Given the description of an element on the screen output the (x, y) to click on. 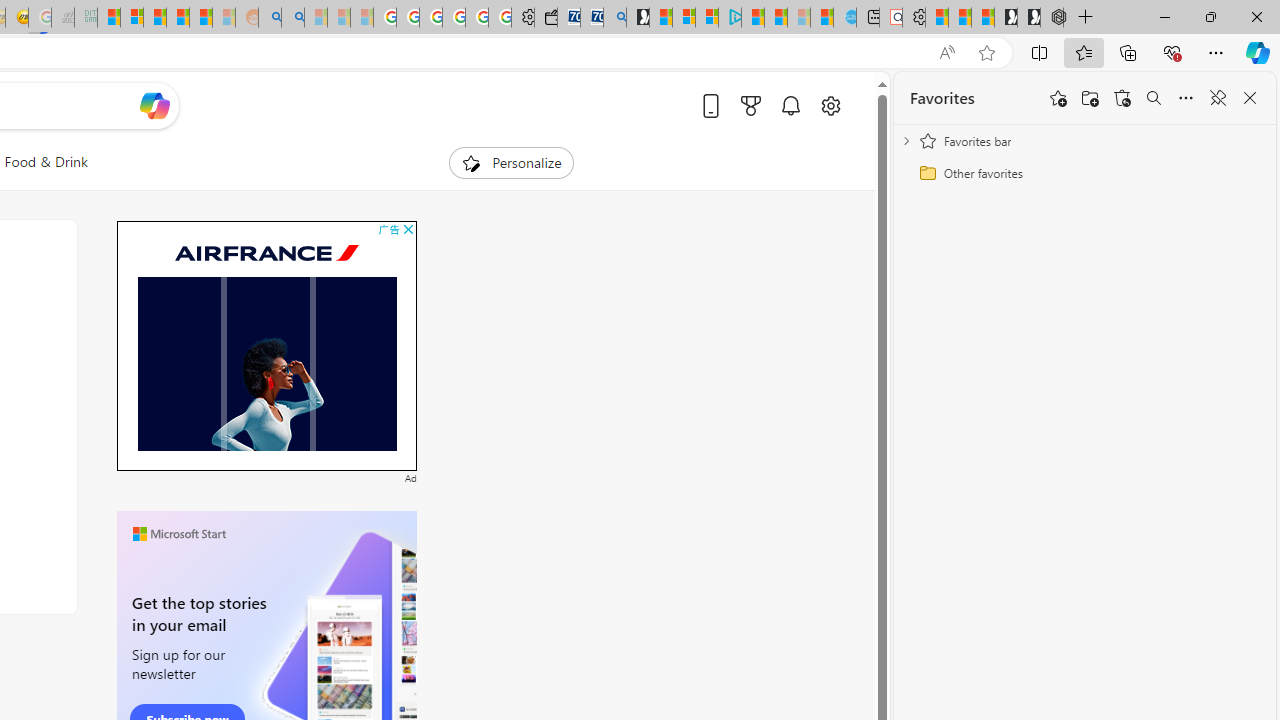
Utah sues federal government - Search (292, 17)
